Given the description of an element on the screen output the (x, y) to click on. 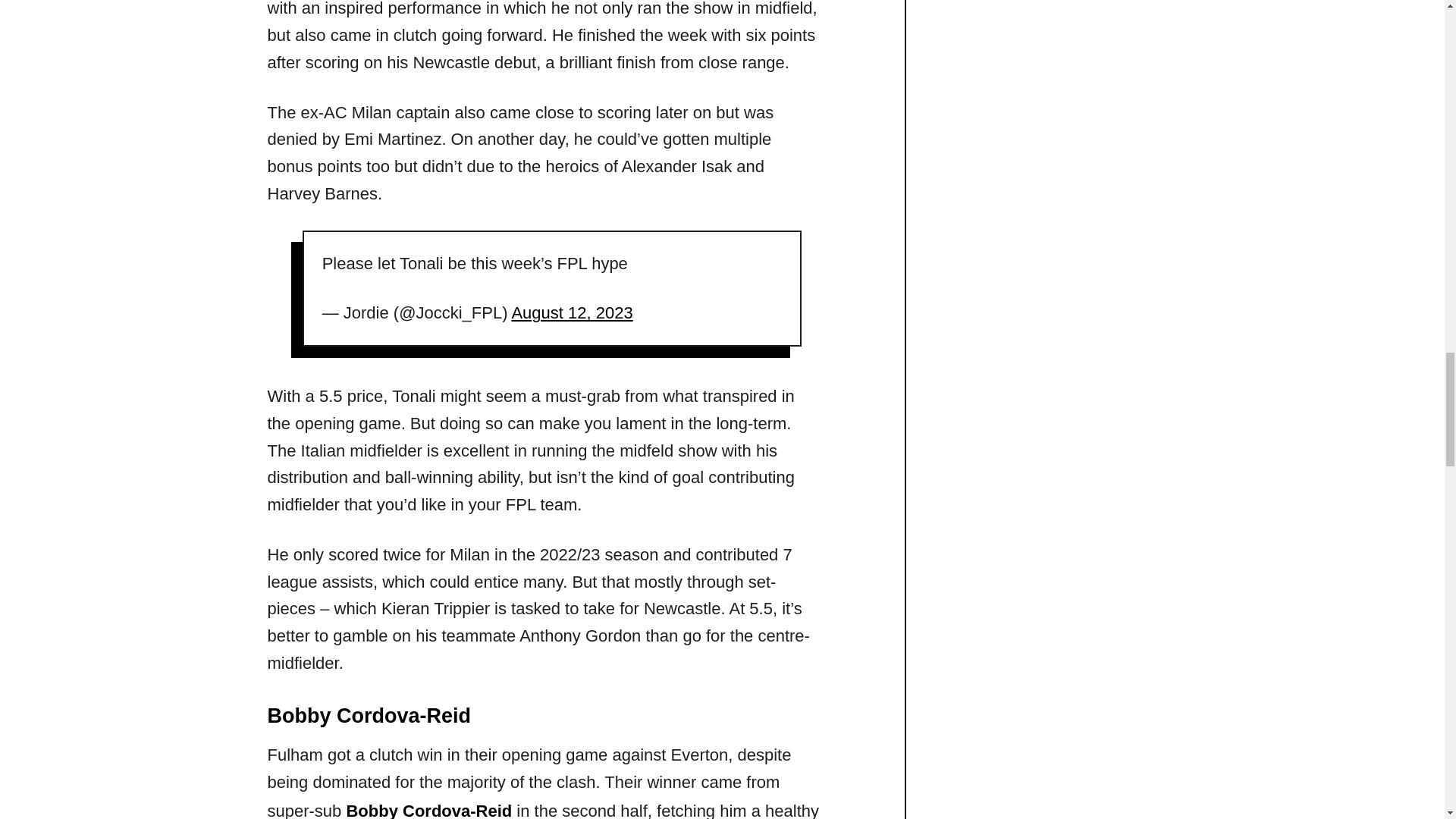
Bobby Cordova-Reid (429, 810)
August 12, 2023 (571, 312)
